Given the description of an element on the screen output the (x, y) to click on. 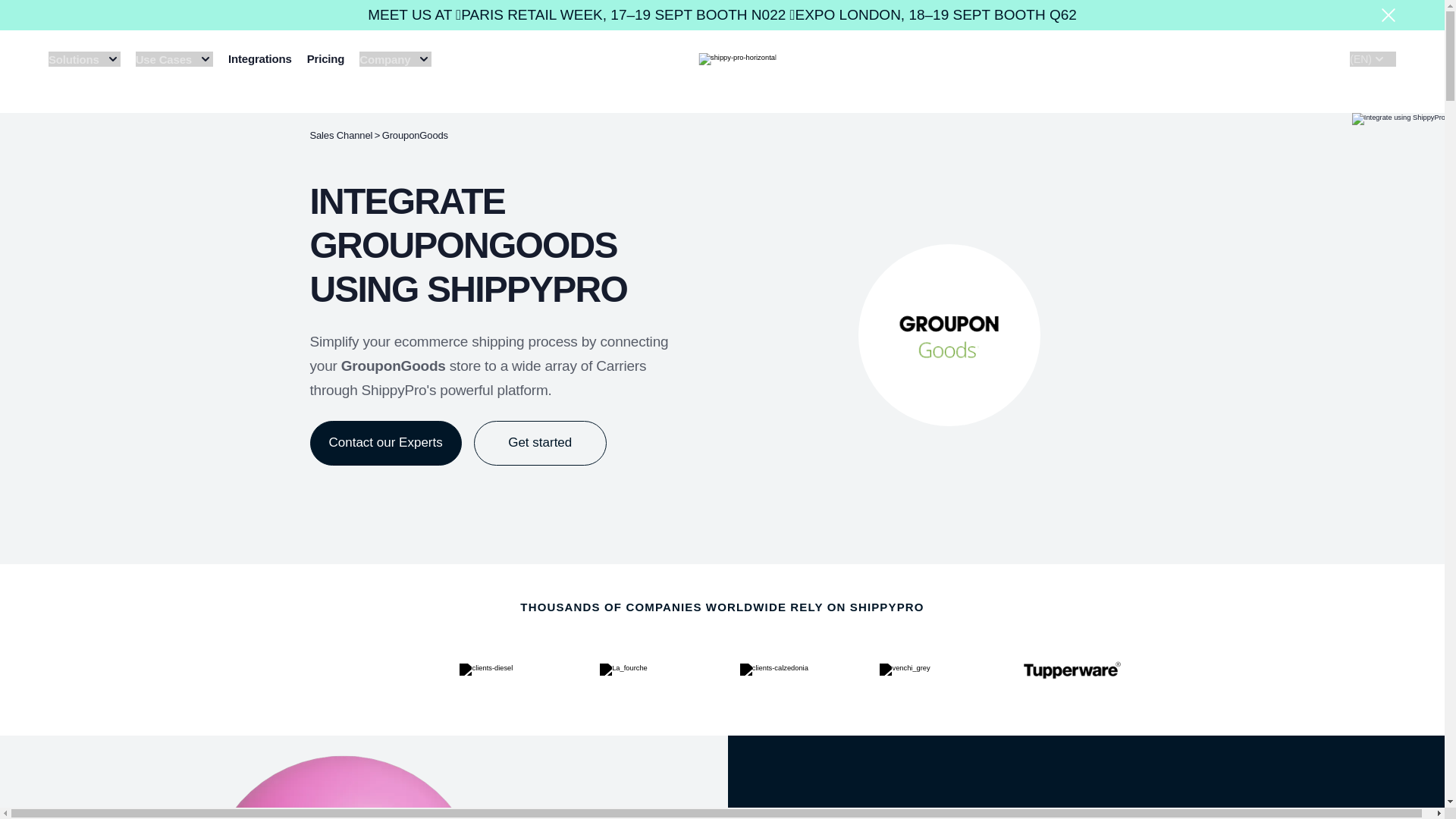
Solutions (84, 58)
Pricing (326, 59)
Company (394, 58)
Integrations (260, 59)
Use Cases (173, 58)
